Given the description of an element on the screen output the (x, y) to click on. 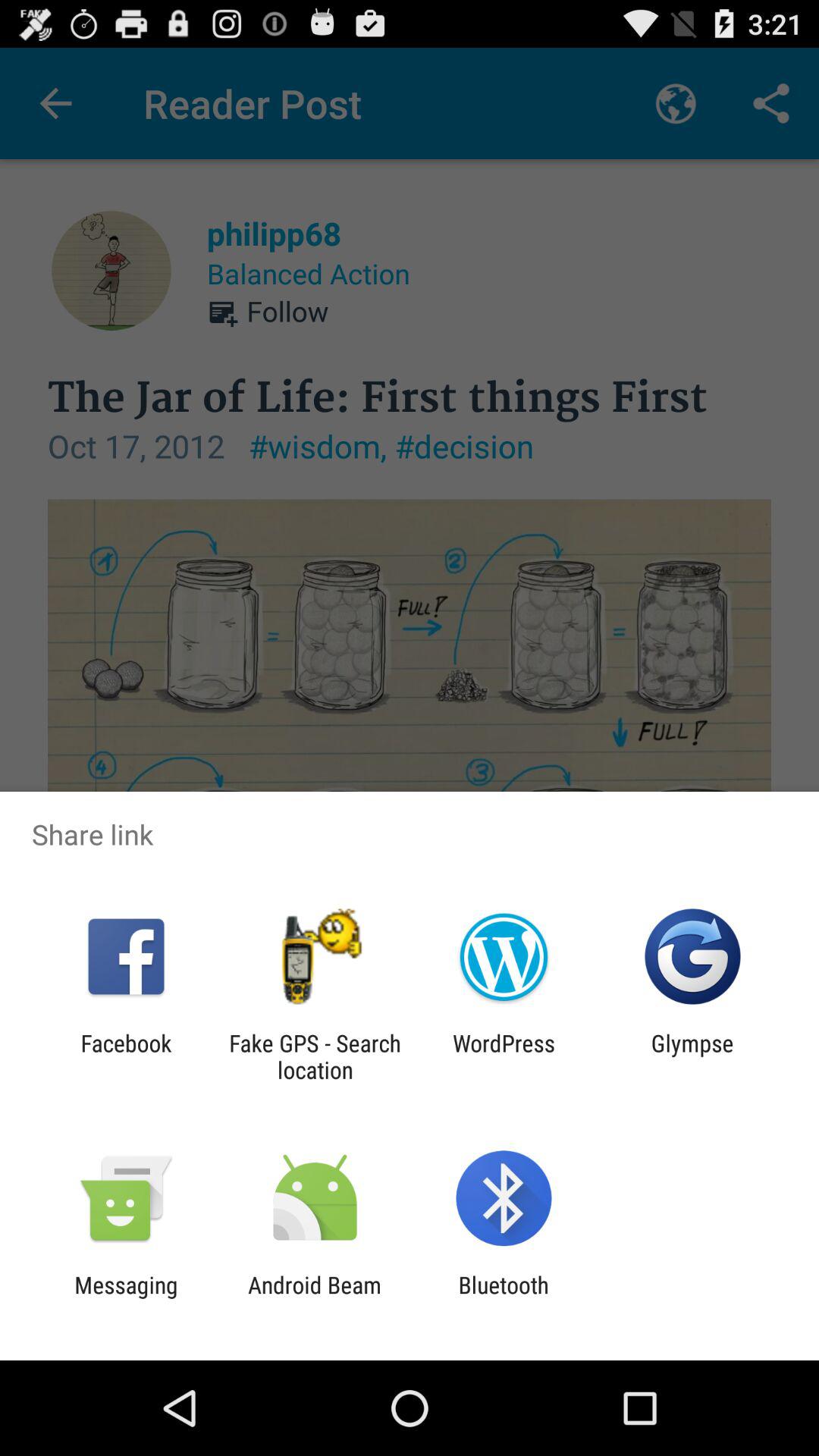
select the icon next to the android beam app (503, 1298)
